Given the description of an element on the screen output the (x, y) to click on. 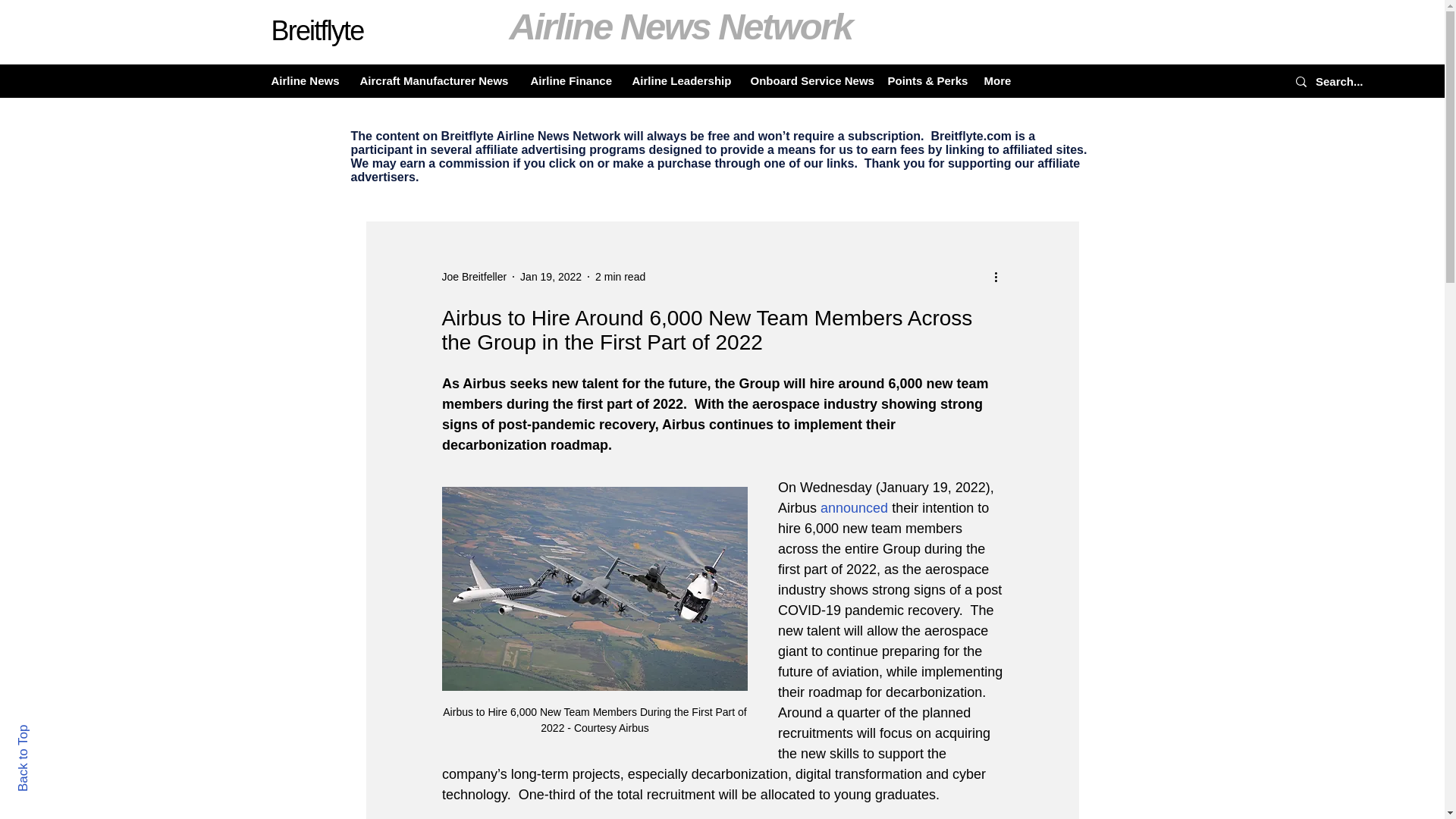
Aircraft Manufacturer News (434, 81)
announced (854, 507)
Onboard Service News (807, 81)
Airline News (303, 81)
Airline Finance (569, 81)
Jan 19, 2022 (549, 275)
2 min read (620, 275)
Breitflyte (317, 30)
Joe Breitfeller (473, 276)
Airline Leadership (679, 81)
Joe Breitfeller (473, 276)
Back to Top (49, 730)
